Given the description of an element on the screen output the (x, y) to click on. 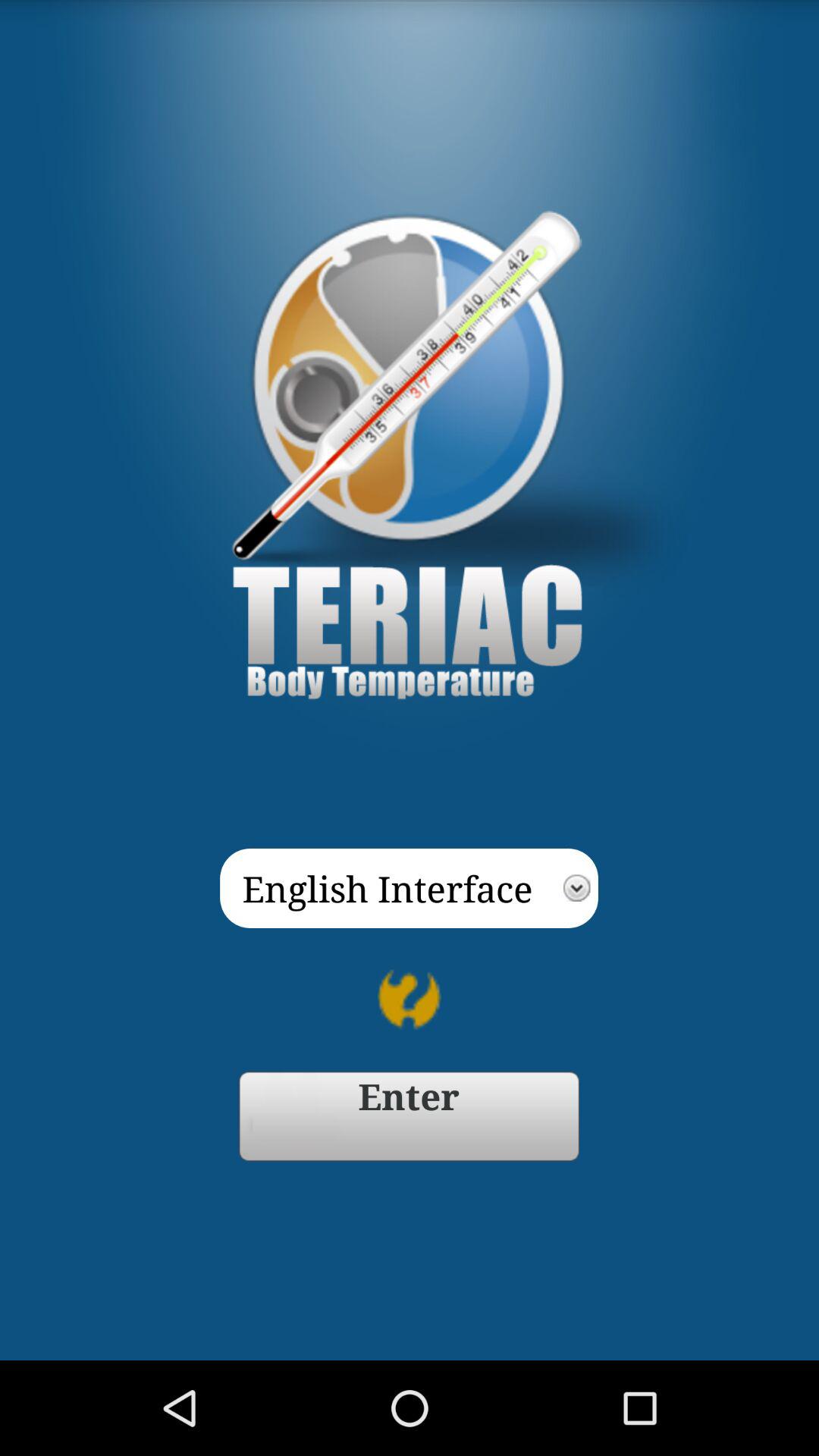
open (408, 1116)
